Given the description of an element on the screen output the (x, y) to click on. 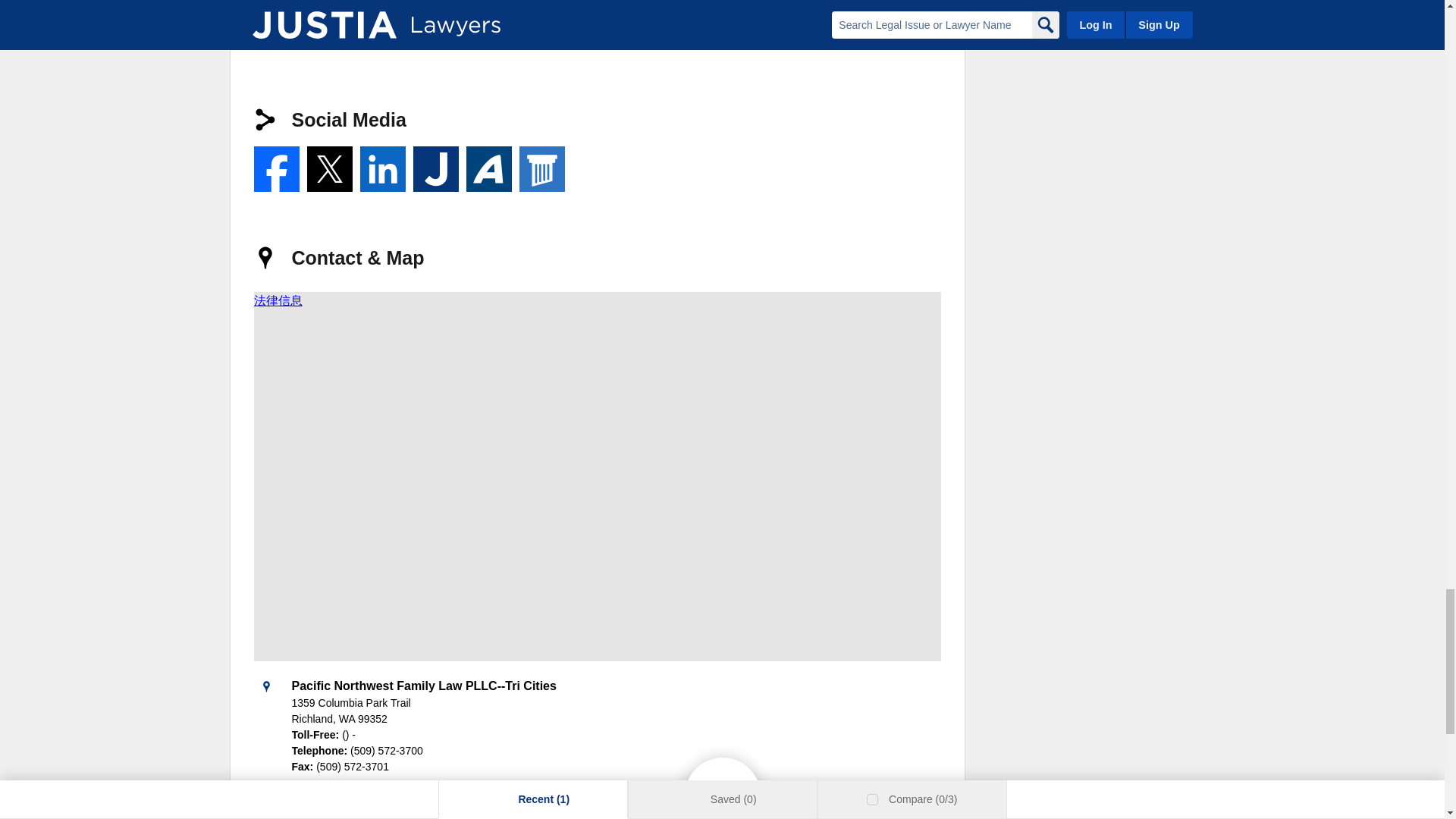
Website (276, 21)
Scott Ashby on Facebook (275, 168)
Scott Ashby's Lawyers.com Profile (541, 168)
 Justia Profile (435, 168)
Scott Ashby on LinkedIn (381, 168)
Scott Ashby's Avvo Profile (488, 168)
